Given the description of an element on the screen output the (x, y) to click on. 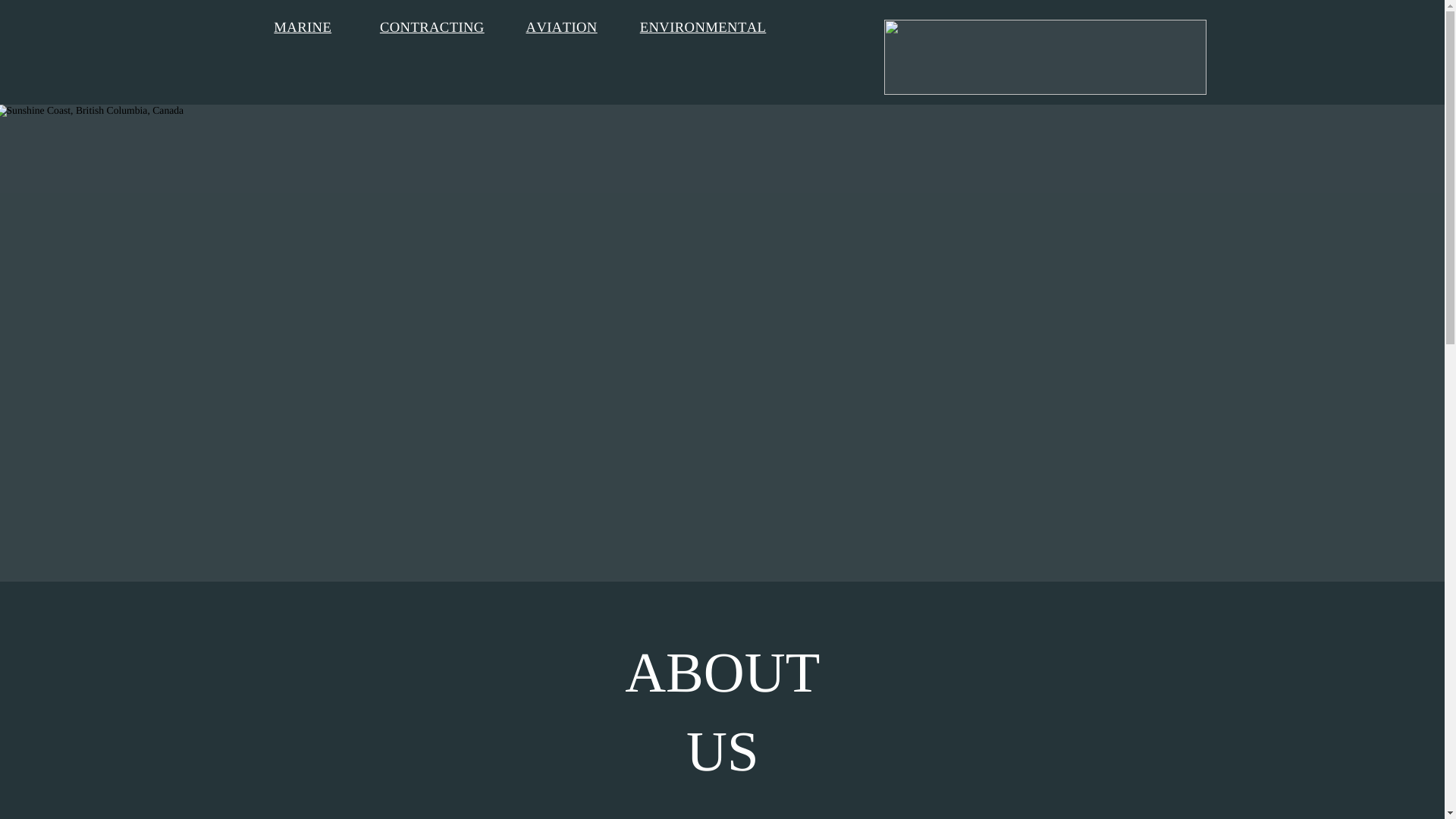
MARINE (302, 27)
CONTRACTING (432, 27)
AVIATION (560, 27)
ENVIRONMENTAL (703, 27)
